Given the description of an element on the screen output the (x, y) to click on. 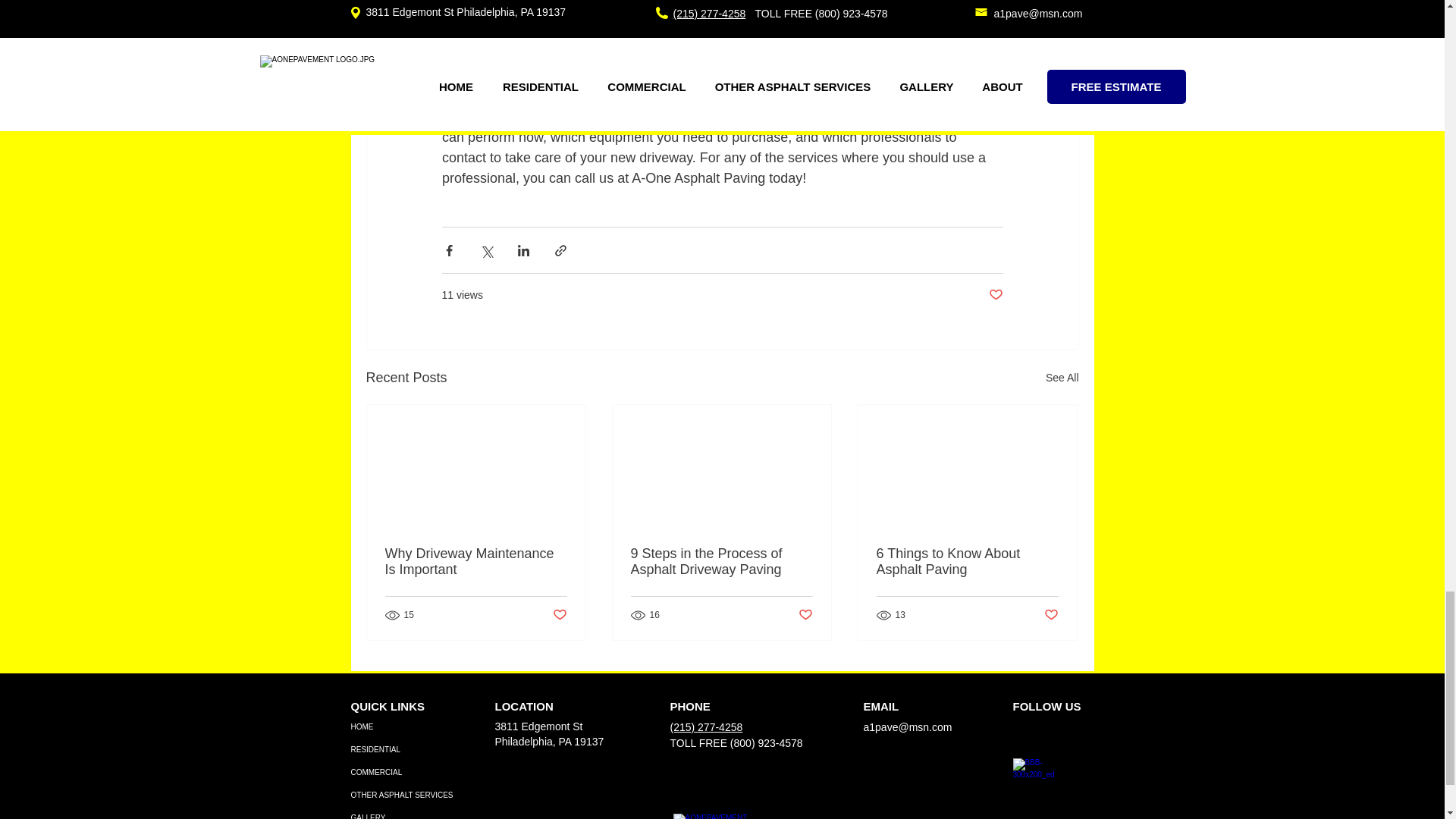
Post not marked as liked (1050, 614)
See All (1061, 377)
9 Steps in the Process of Asphalt Driveway Paving (721, 562)
COMMERCIAL (403, 772)
RESIDENTIAL (403, 749)
GALLERY (403, 812)
Post not marked as liked (804, 614)
driveway paving service (729, 96)
6 Things to Know About Asphalt Paving (967, 562)
HOME (403, 726)
